Given the description of an element on the screen output the (x, y) to click on. 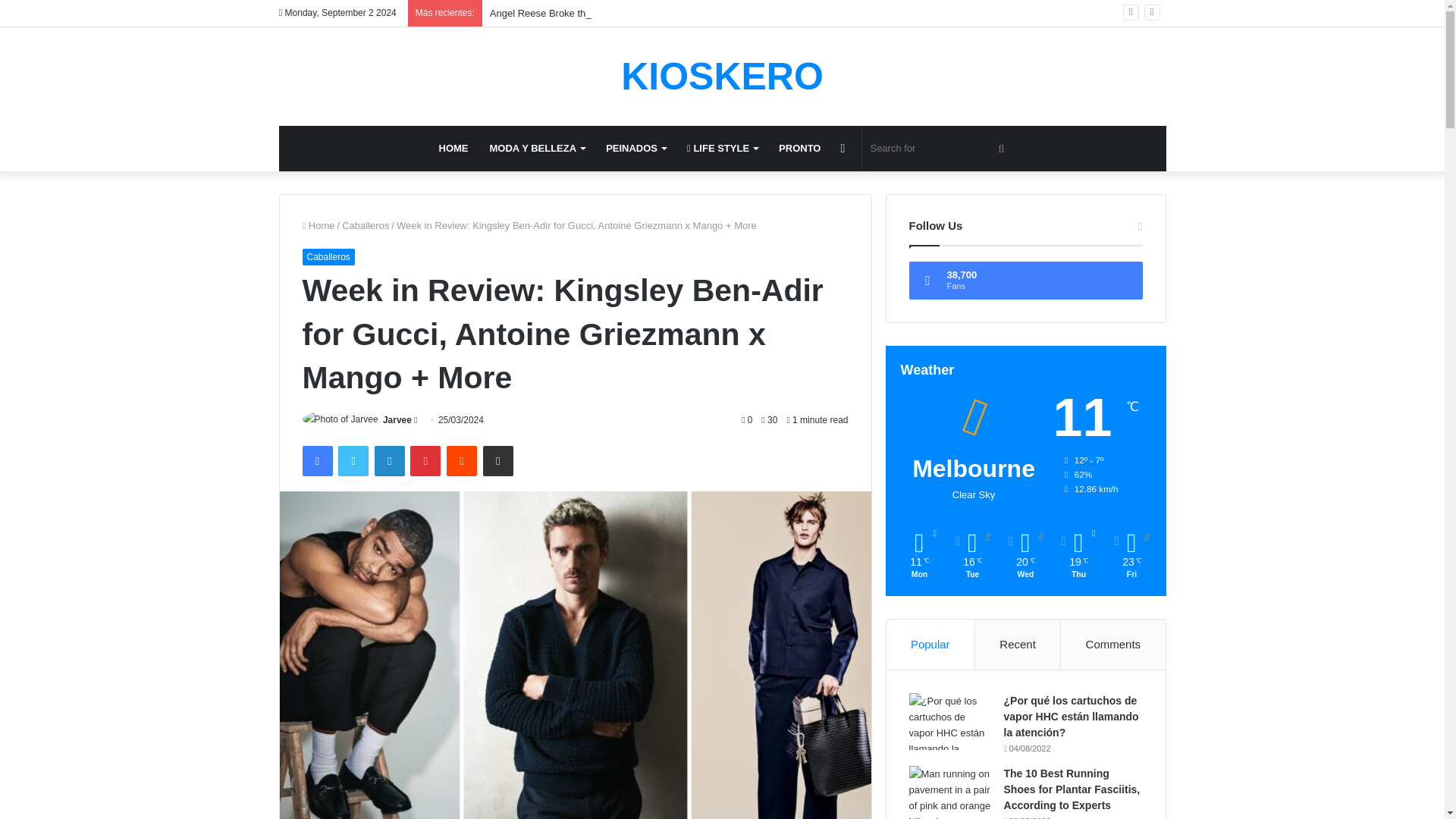
LinkedIn (389, 460)
PRONTO (799, 148)
LinkedIn (389, 460)
KIOSKERO (722, 76)
Twitter (352, 460)
Pinterest (425, 460)
Facebook (316, 460)
Pinterest (425, 460)
Jarvee (397, 419)
LIFE STYLE (722, 148)
